Given the description of an element on the screen output the (x, y) to click on. 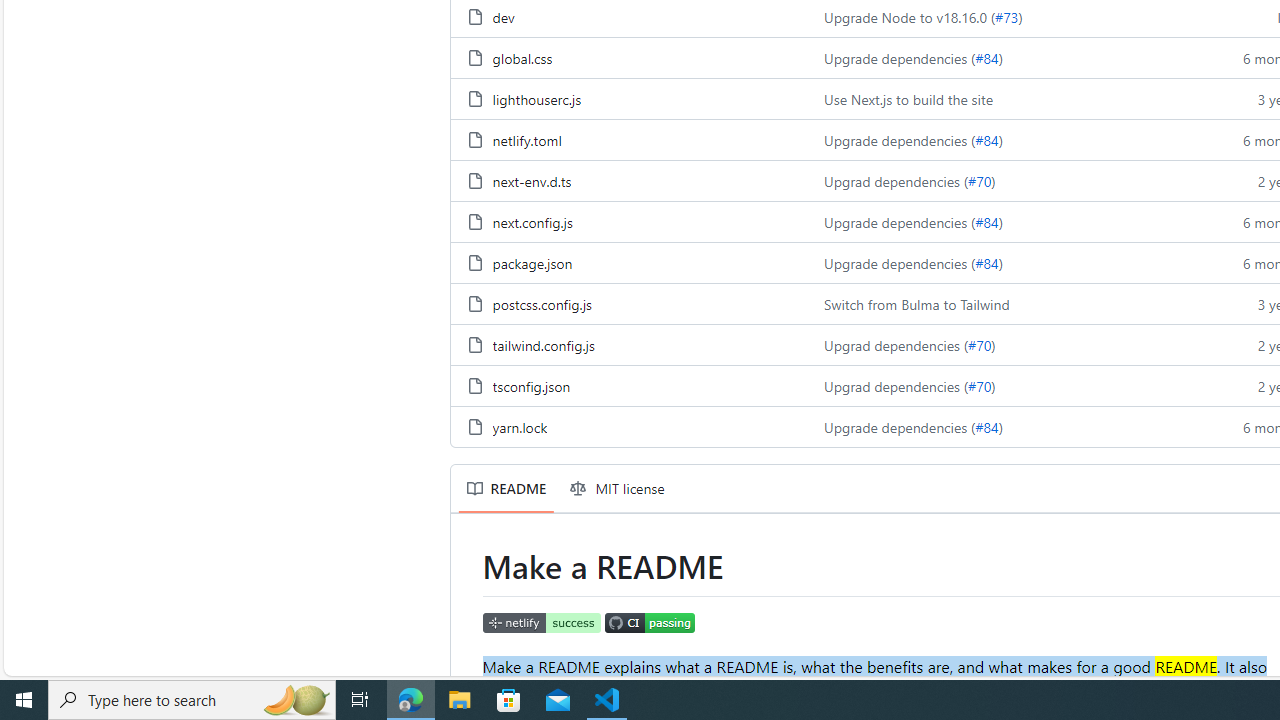
postcss.config.js, (File) (541, 303)
package.json, (File) (629, 261)
netlify.toml, (File) (629, 138)
lighthouserc.js, (File) (536, 98)
next.config.js, (File) (532, 221)
tsconfig.json, (File) (629, 385)
next.config.js, (File) (629, 220)
Make a README (541, 665)
Netlify Status (541, 622)
Upgrade dependencies (#84) (1008, 426)
tsconfig.json, (File) (530, 385)
Upgrad dependencies ( (895, 385)
yarn.lock, (File) (629, 426)
Switch from Bulma to Tailwind (916, 303)
